Given the description of an element on the screen output the (x, y) to click on. 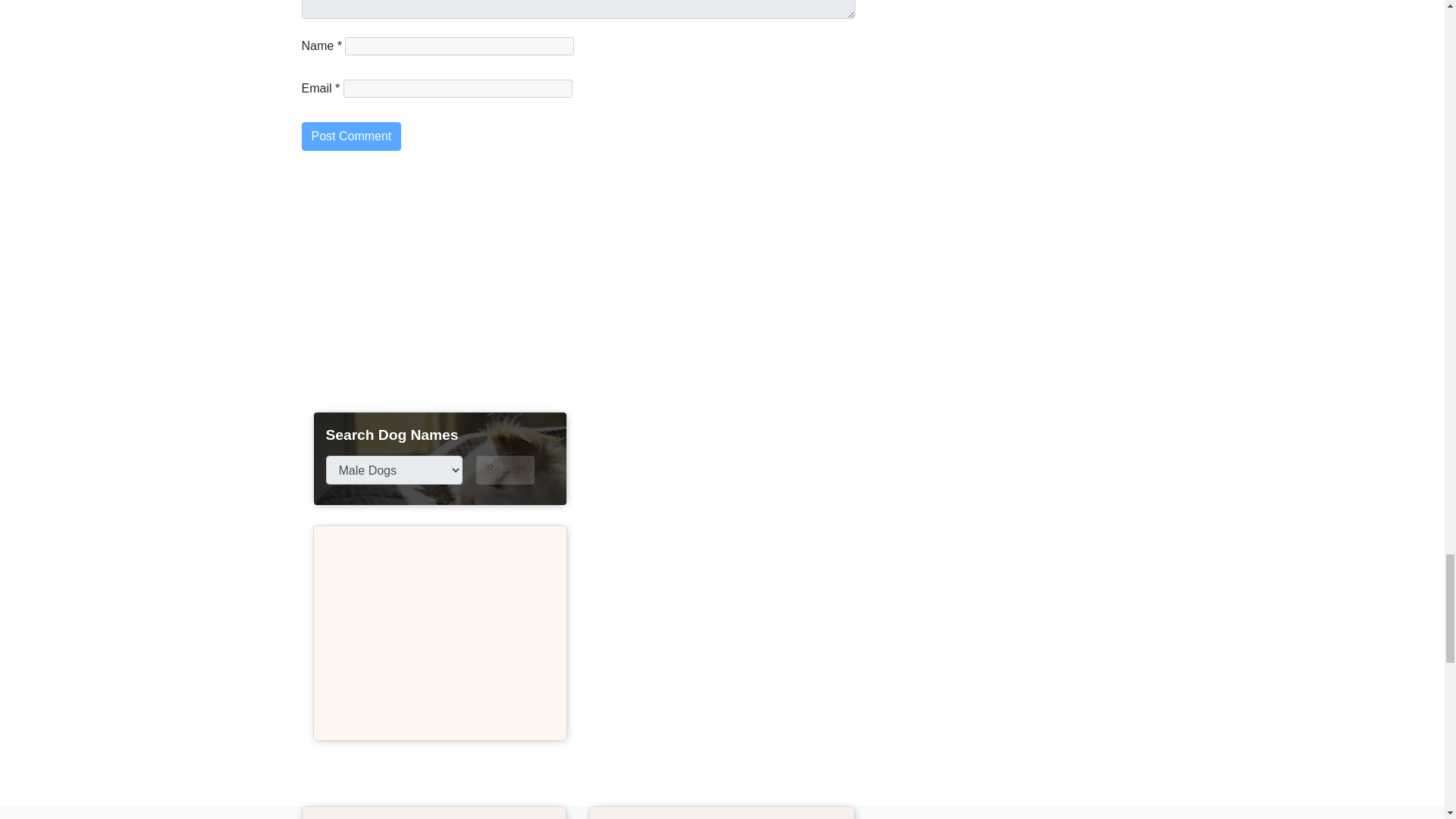
Post Comment (351, 136)
